Given the description of an element on the screen output the (x, y) to click on. 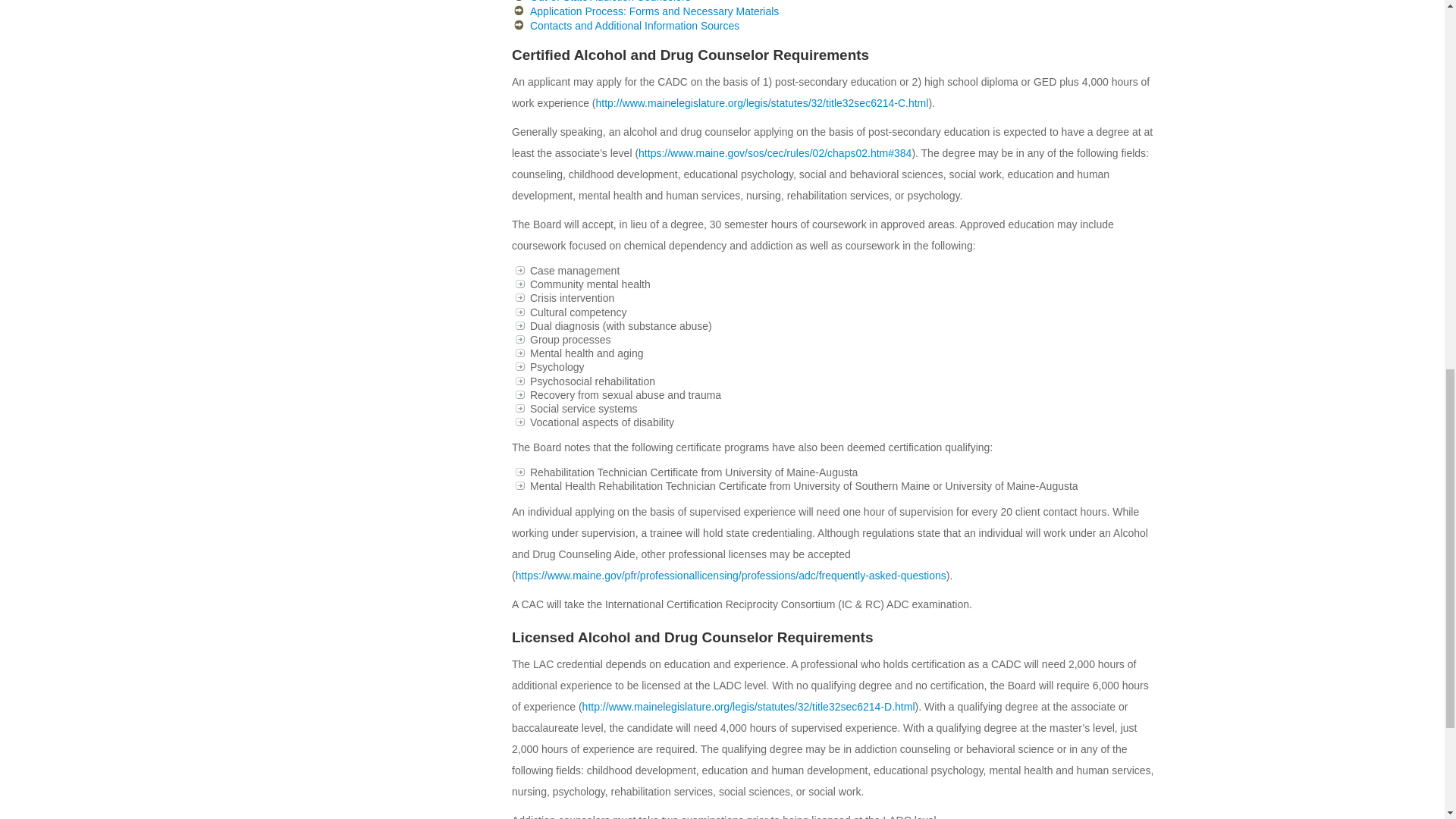
Application Process: Forms and Necessary Materials (653, 10)
Contacts and Additional Information Sources (634, 25)
Out-of-State Addiction Counselors (609, 1)
